Given the description of an element on the screen output the (x, y) to click on. 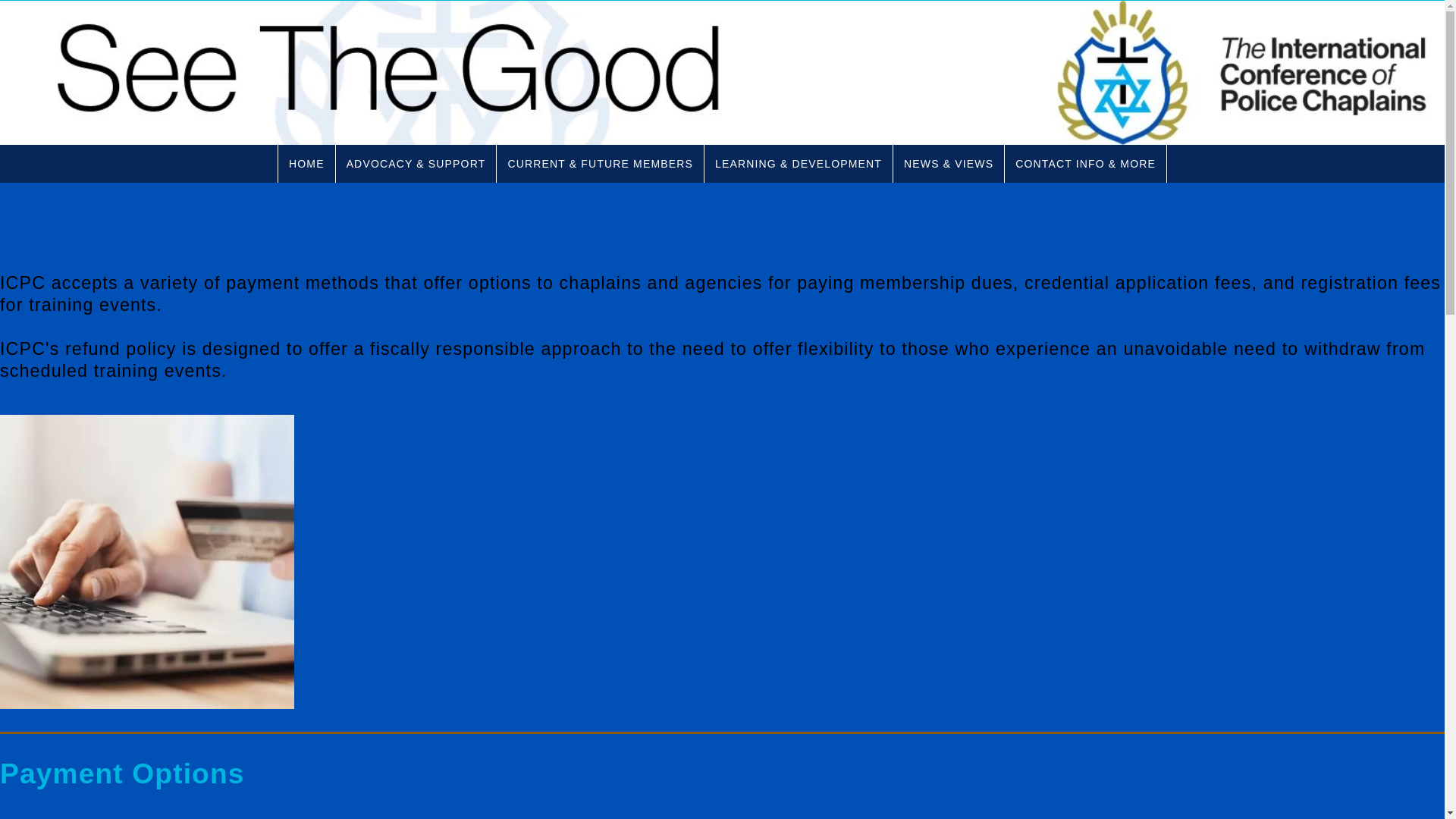
HOME (306, 163)
